Given the description of an element on the screen output the (x, y) to click on. 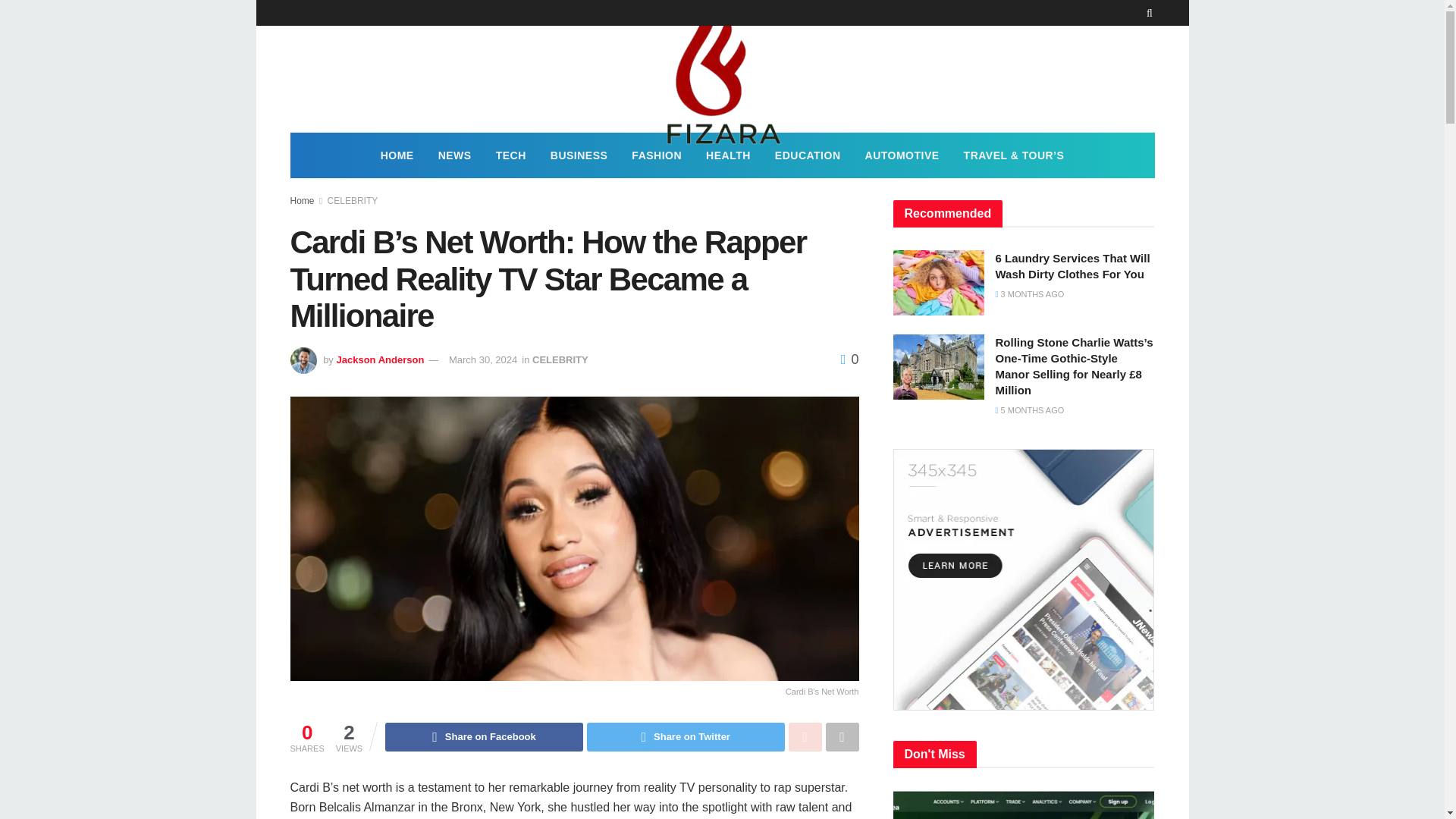
EDUCATION (807, 155)
Share on Facebook (484, 736)
CELEBRITY (352, 200)
Home (301, 200)
March 30, 2024 (482, 359)
FASHION (657, 155)
BUSINESS (579, 155)
TECH (510, 155)
AUTOMOTIVE (902, 155)
NEWS (454, 155)
HEALTH (728, 155)
0 (850, 359)
CELEBRITY (560, 359)
Share on Twitter (685, 736)
